Given the description of an element on the screen output the (x, y) to click on. 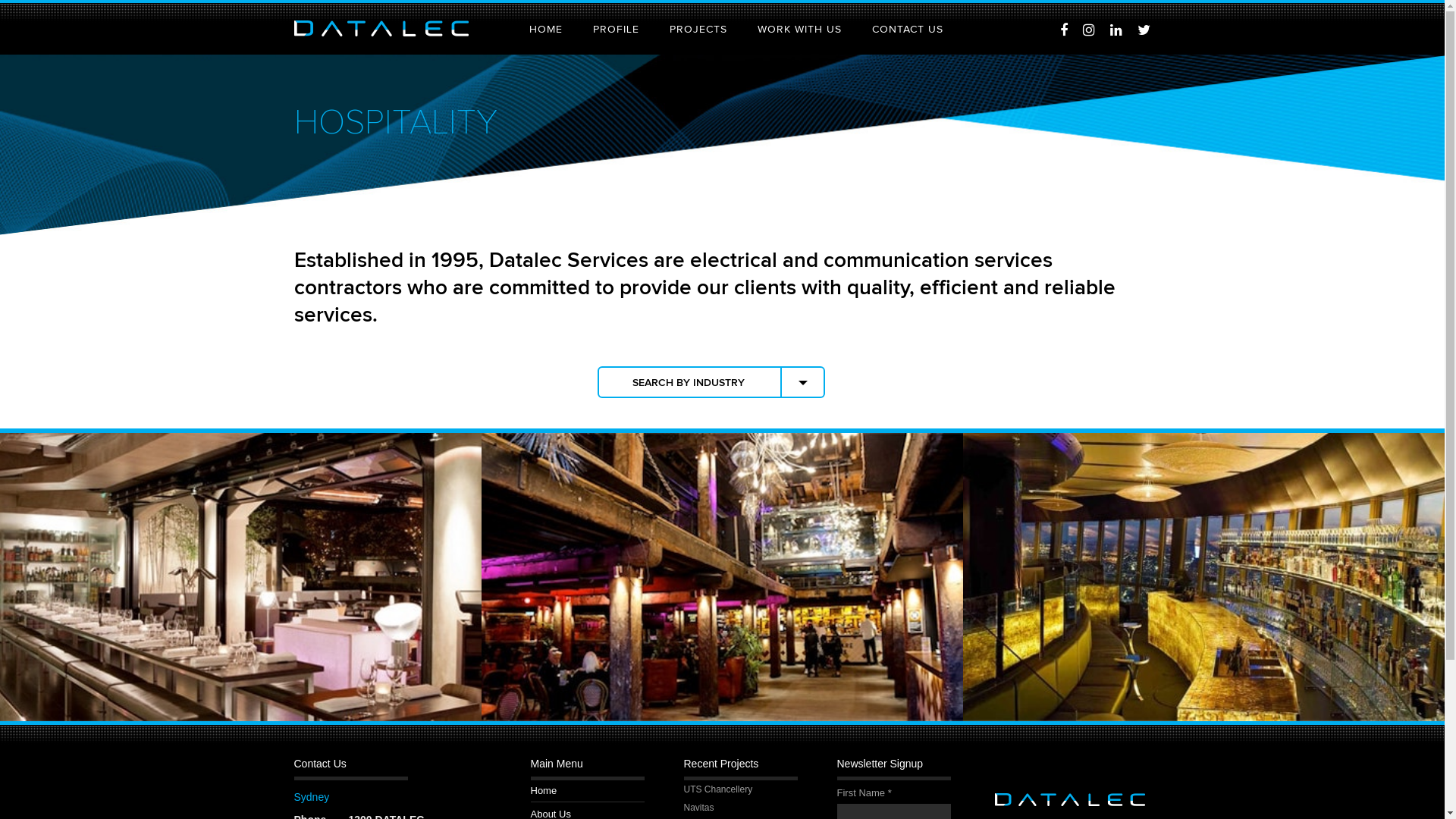
Centerpoint 360 Bar and Dining Element type: hover (1203, 577)
PROJECTS Element type: text (697, 29)
The Argyle Element type: hover (722, 577)
PROFILE Element type: text (615, 29)
logo-min Element type: hover (381, 28)
LinkedIn Element type: hover (1116, 29)
CONTACT US Element type: text (907, 29)
HOME Element type: text (545, 29)
UTS Chancellery Element type: text (740, 789)
Concrete Blonde Element type: hover (240, 577)
Home Element type: text (543, 790)
WORK WITH US Element type: text (798, 29)
Navitas Element type: text (740, 807)
Twitter Element type: hover (1143, 29)
Facebook Element type: hover (1063, 29)
SEARCH BY INDUSTRY Element type: text (688, 382)
Instagram Element type: hover (1088, 29)
